Given the description of an element on the screen output the (x, y) to click on. 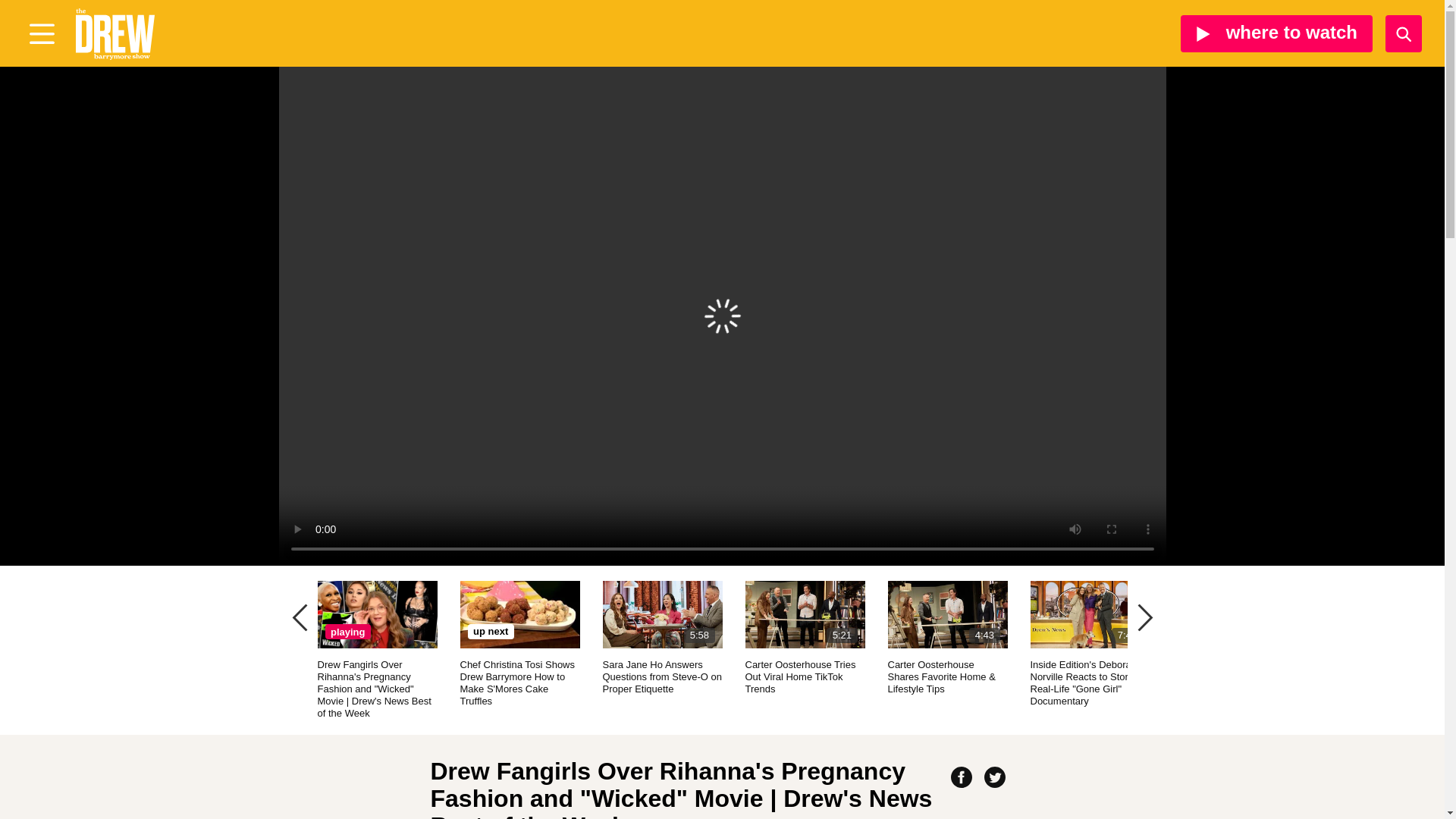
where to watch (804, 637)
